Given the description of an element on the screen output the (x, y) to click on. 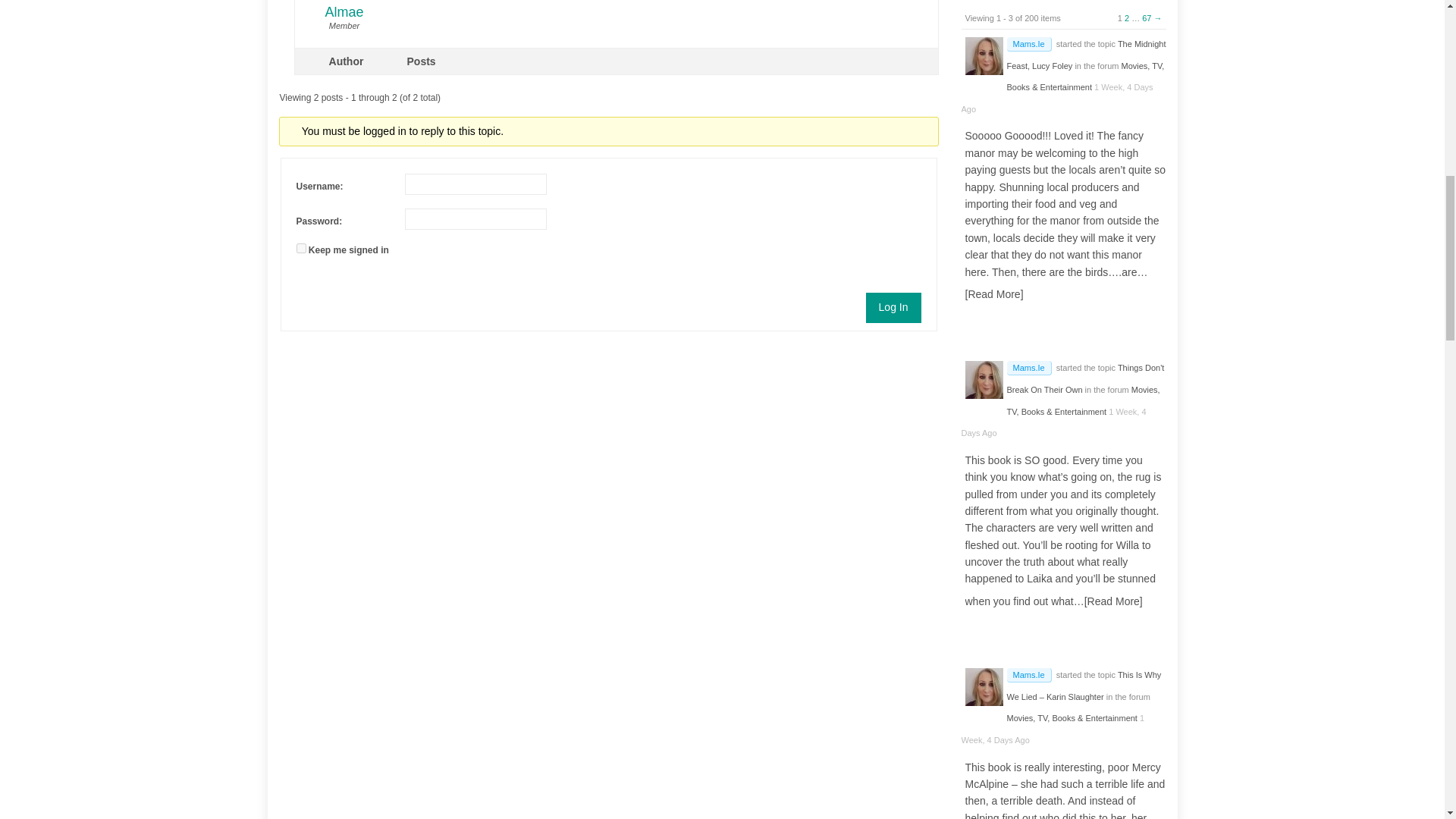
forever (300, 248)
View Almae's profile (343, 9)
